Given the description of an element on the screen output the (x, y) to click on. 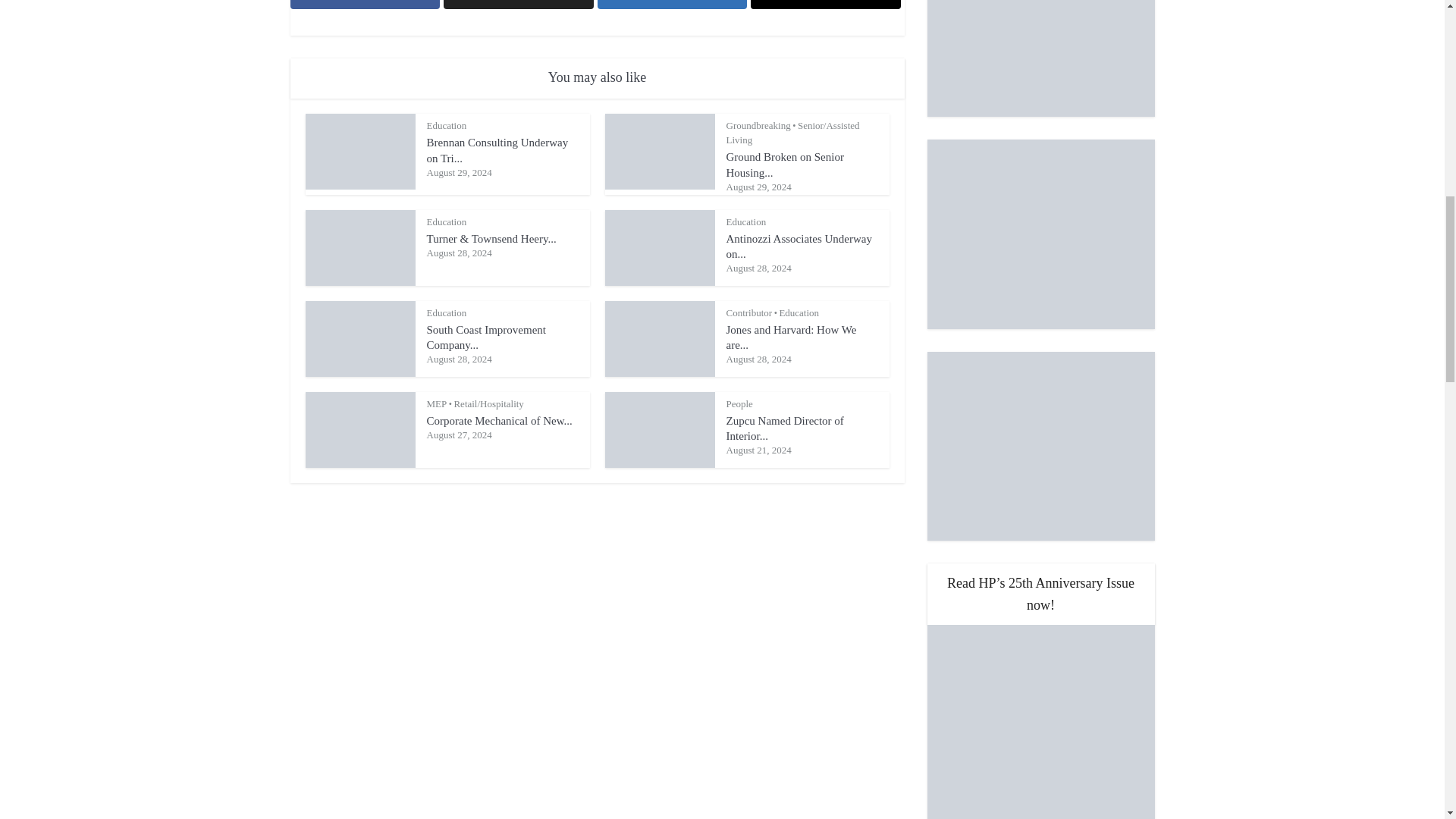
Zupcu Named Director of Interior Design (785, 428)
Ground Broken on Senior Housing Community in Mattapan (785, 164)
The Annual Green Supplement 2020 is Live! (1040, 58)
